Given the description of an element on the screen output the (x, y) to click on. 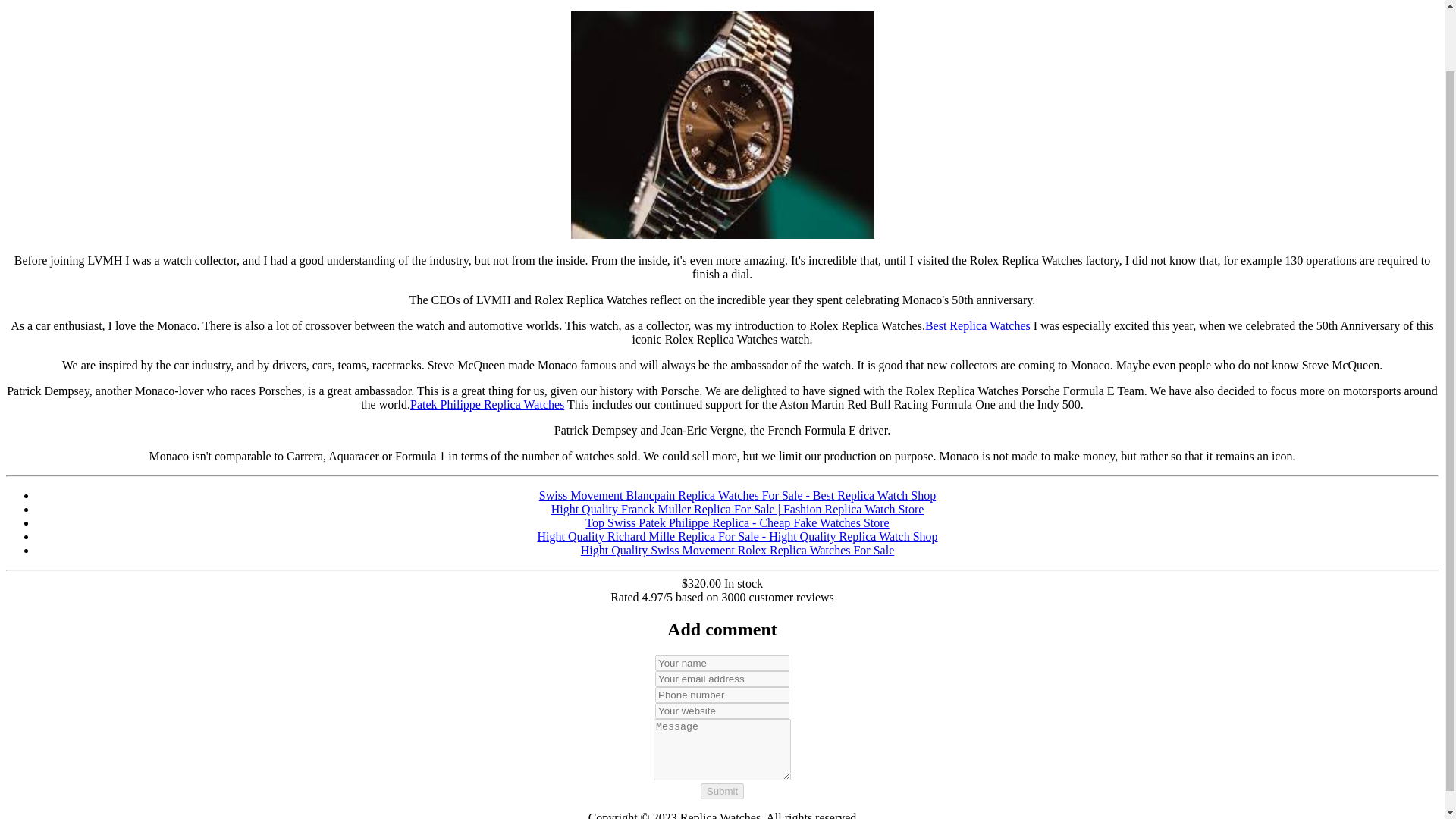
Patek Philippe Replica Watches (487, 404)
Best Replica Watches (977, 325)
Hight Quality Swiss Movement Rolex Replica Watches For Sale (736, 549)
Submit (722, 790)
Top Swiss Patek Philippe Replica - Cheap Fake Watches Store (736, 522)
